Given the description of an element on the screen output the (x, y) to click on. 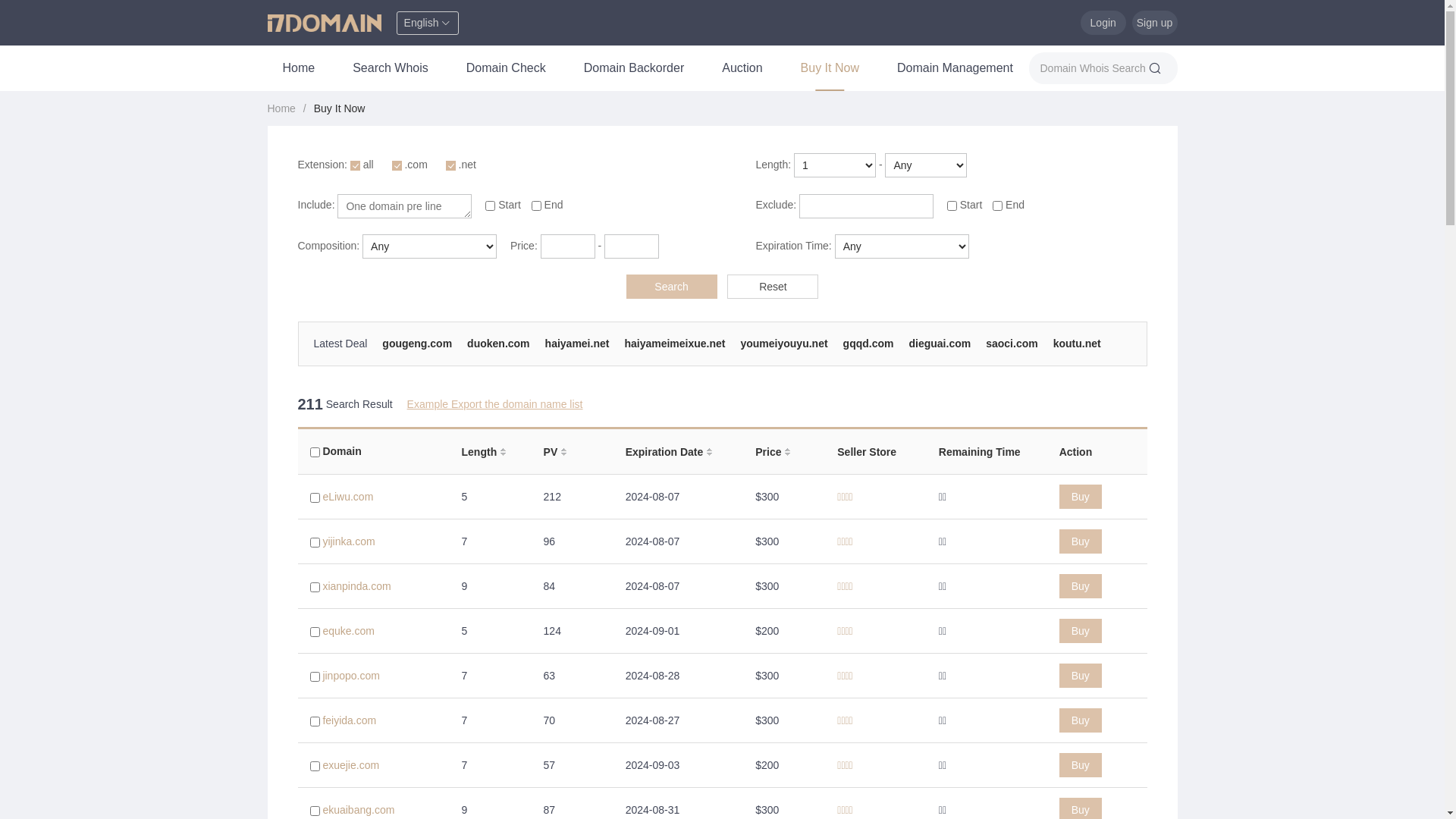
dieguai.com Element type: text (939, 343)
kousuo.com Element type: text (482, 355)
Buy Element type: text (1080, 586)
yijinka.com Element type: text (348, 541)
biaoti.net Element type: text (695, 355)
Lunran.com Element type: text (343, 355)
duoken.com Element type: text (498, 343)
paiyun.net Element type: text (555, 355)
Domain Management Element type: text (954, 68)
Buy Element type: text (1080, 541)
Auction Element type: text (741, 68)
Buy Element type: text (1080, 675)
Buy It Now Element type: text (339, 108)
geipa.com Element type: text (1039, 355)
gqqd.com Element type: text (868, 343)
Buy Element type: text (1080, 496)
gougeng.com Element type: text (416, 343)
koutu.net Element type: text (1077, 343)
exuejie.com Element type: text (350, 765)
biaoti.net Element type: text (412, 355)
equke.com Element type: text (347, 630)
dianqie.com Element type: text (884, 355)
Login Element type: text (1103, 22)
eLiwu.com Element type: text (347, 496)
Domain Check Element type: text (506, 68)
xianpinda.com Element type: text (356, 586)
Buy It Now Element type: text (829, 68)
Domain Backorder Element type: text (633, 68)
Sign up Element type: text (1153, 22)
haiyameimeixue.net Element type: text (674, 343)
Example Export the domain name list Element type: text (495, 404)
buddhismchina.com Element type: text (785, 355)
haiyamei.net Element type: text (577, 343)
Buy Element type: text (1080, 630)
saoci.com Element type: text (1011, 343)
Home Element type: text (297, 68)
zouxibei.com Element type: text (963, 355)
youmeiyouyu.net Element type: text (783, 343)
ekuaibang.com Element type: text (358, 809)
jinpopo.com Element type: text (350, 675)
Search Whois Element type: text (390, 68)
Buy Element type: text (1080, 720)
Luandi.com Element type: text (627, 355)
feiyida.com Element type: text (349, 720)
Buy Element type: text (1080, 765)
